Given the description of an element on the screen output the (x, y) to click on. 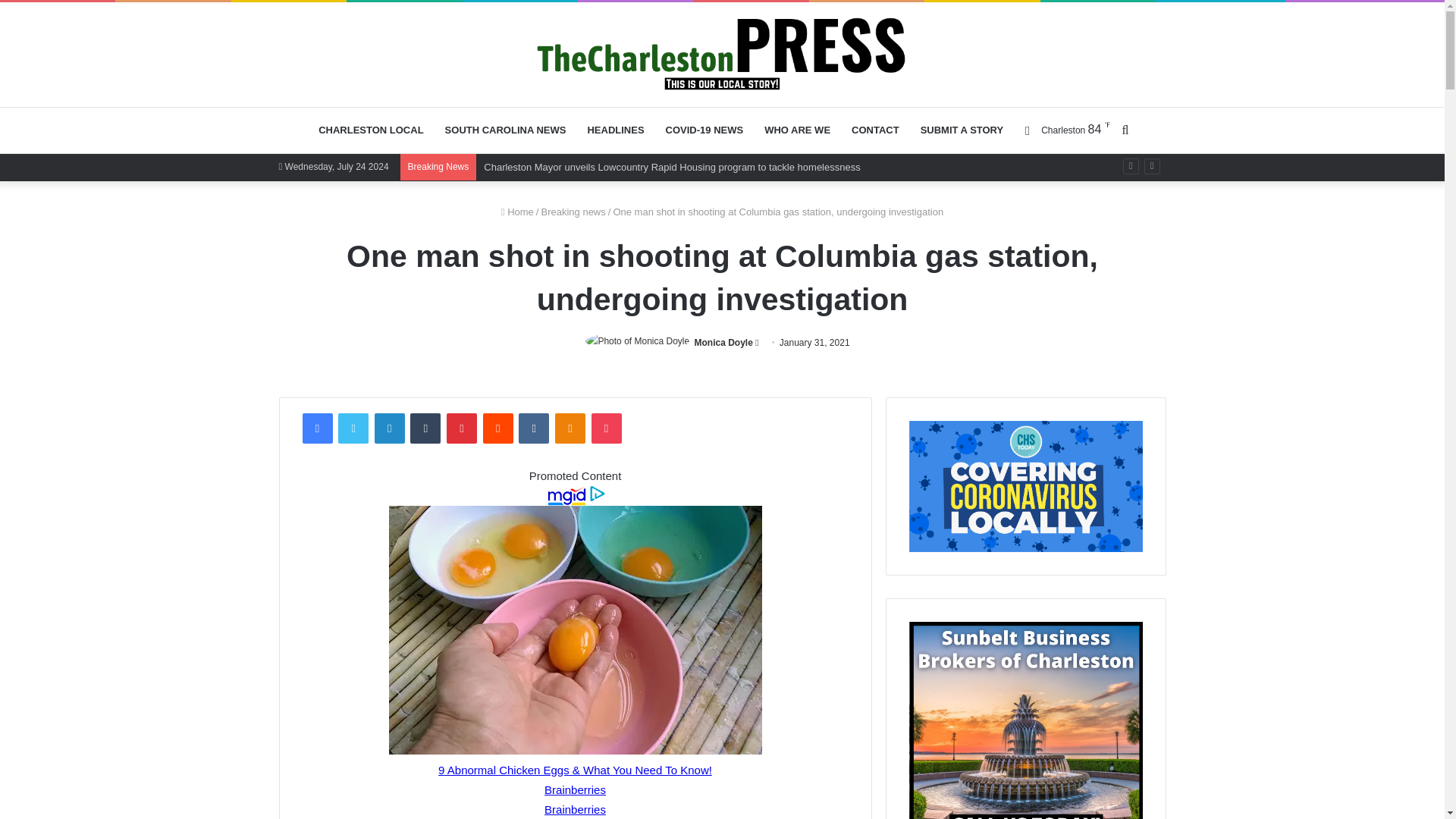
WHO ARE WE (797, 130)
Tumblr (425, 428)
LinkedIn (389, 428)
CHARLESTON LOCAL (370, 130)
SUBMIT A STORY (962, 130)
Tumblr (425, 428)
HEADLINES (614, 130)
Pocket (606, 428)
COVID-19 NEWS (704, 130)
Reddit (498, 428)
CONTACT (875, 130)
The Charleston Press (722, 53)
Twitter (352, 428)
Facebook (316, 428)
VKontakte (533, 428)
